Given the description of an element on the screen output the (x, y) to click on. 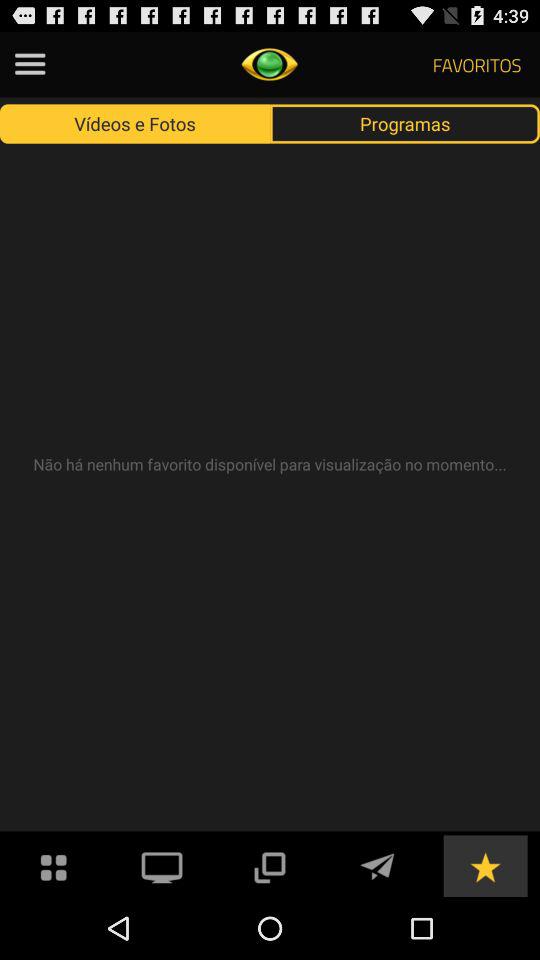
stinting (29, 64)
